Given the description of an element on the screen output the (x, y) to click on. 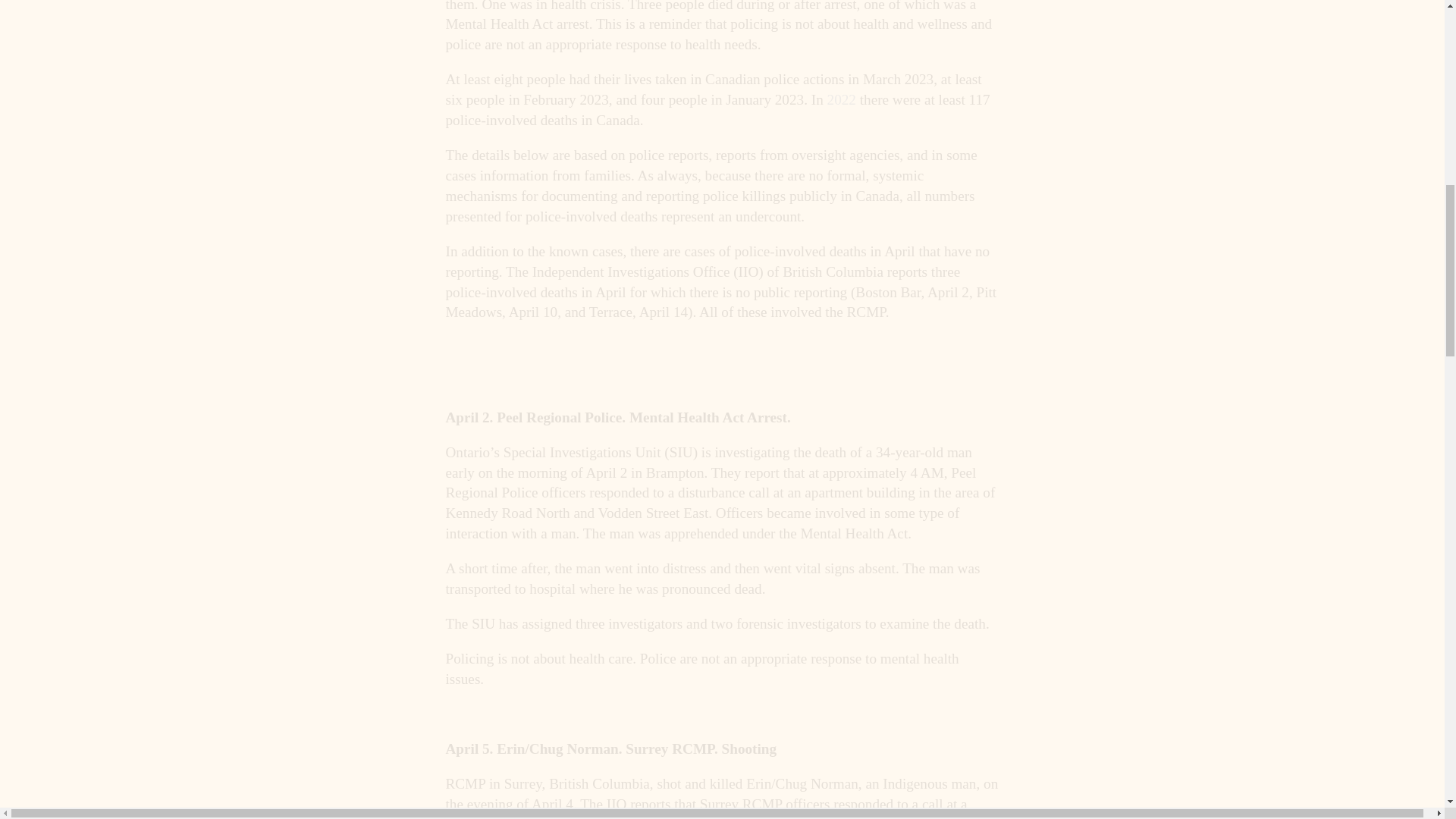
2022 (841, 99)
